Given the description of an element on the screen output the (x, y) to click on. 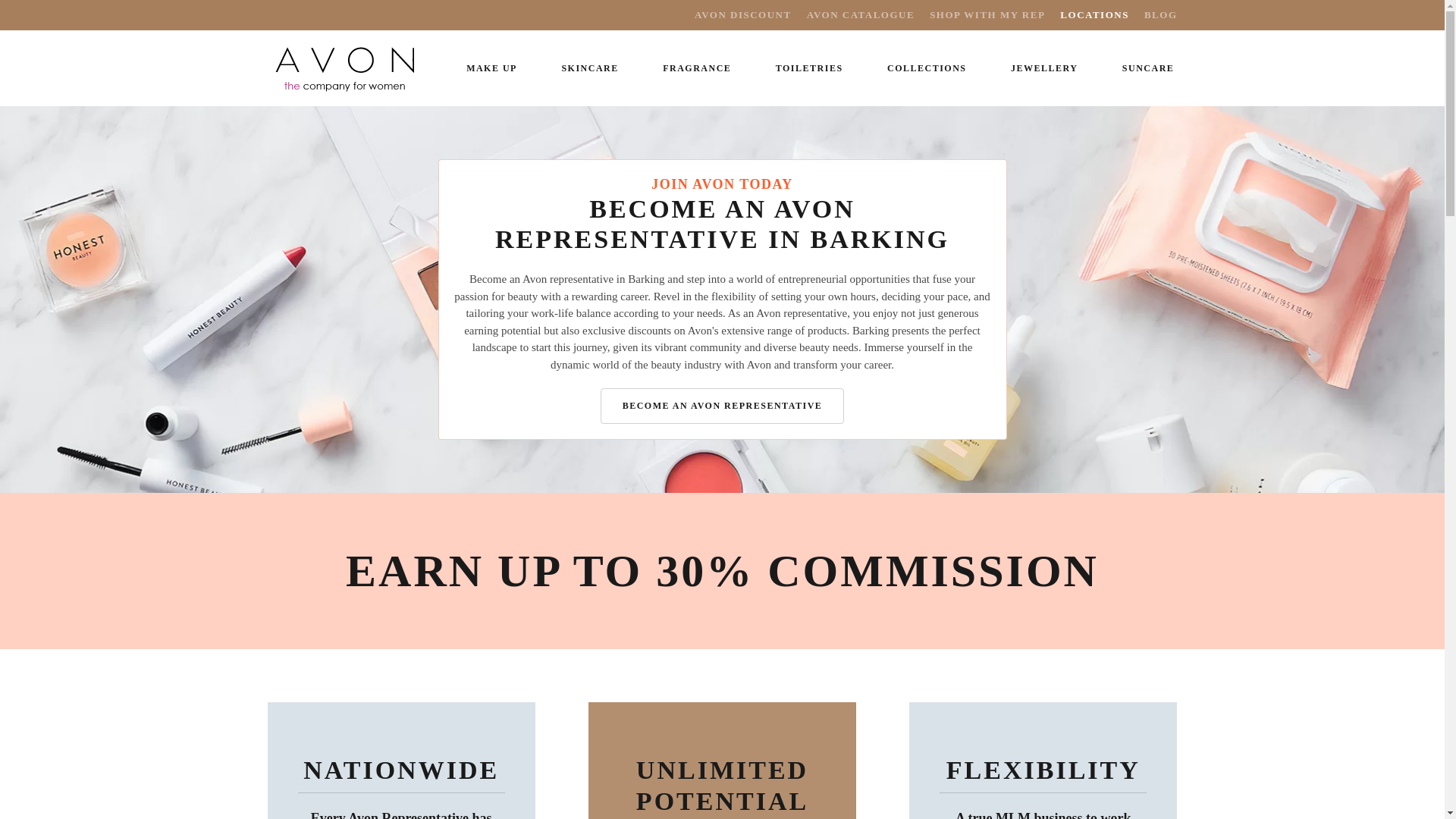
BLOG (1160, 14)
AVON DISCOUNT (743, 14)
LOCATIONS (1094, 14)
AVON CATALOGUE (860, 14)
SHOP WITH MY REP (987, 14)
